Given the description of an element on the screen output the (x, y) to click on. 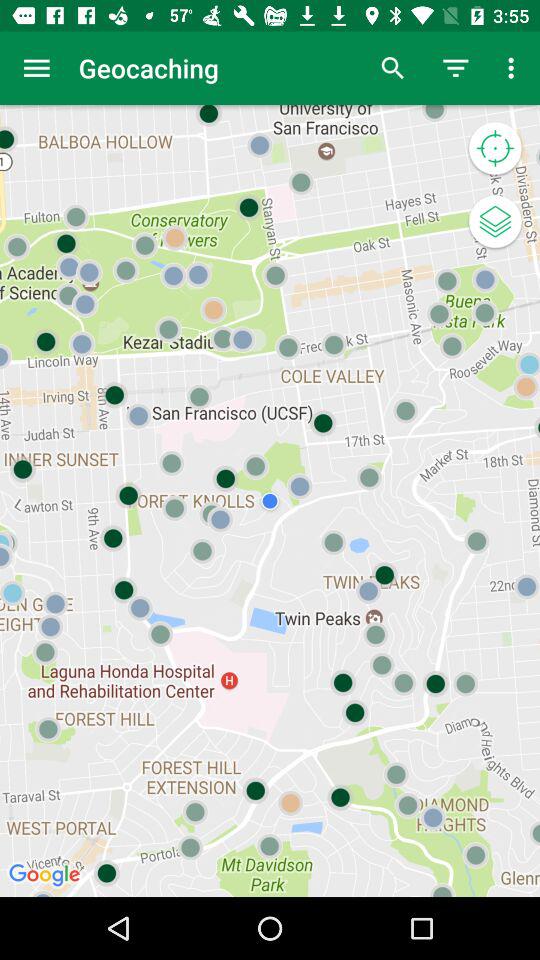
select icon to the left of the geocaching (36, 68)
